Given the description of an element on the screen output the (x, y) to click on. 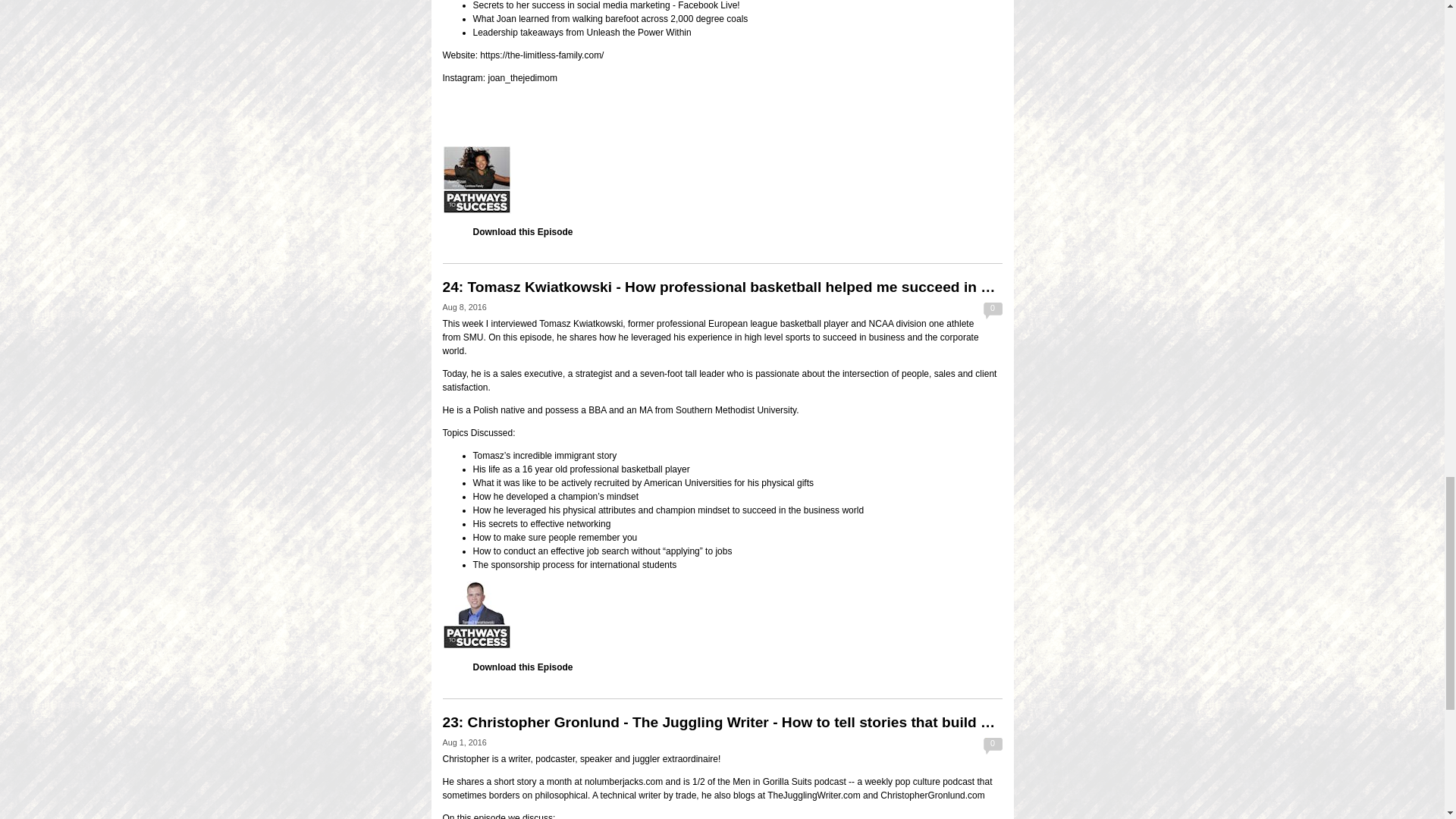
Libsyn Player (722, 179)
Libsyn Player (722, 614)
